Given the description of an element on the screen output the (x, y) to click on. 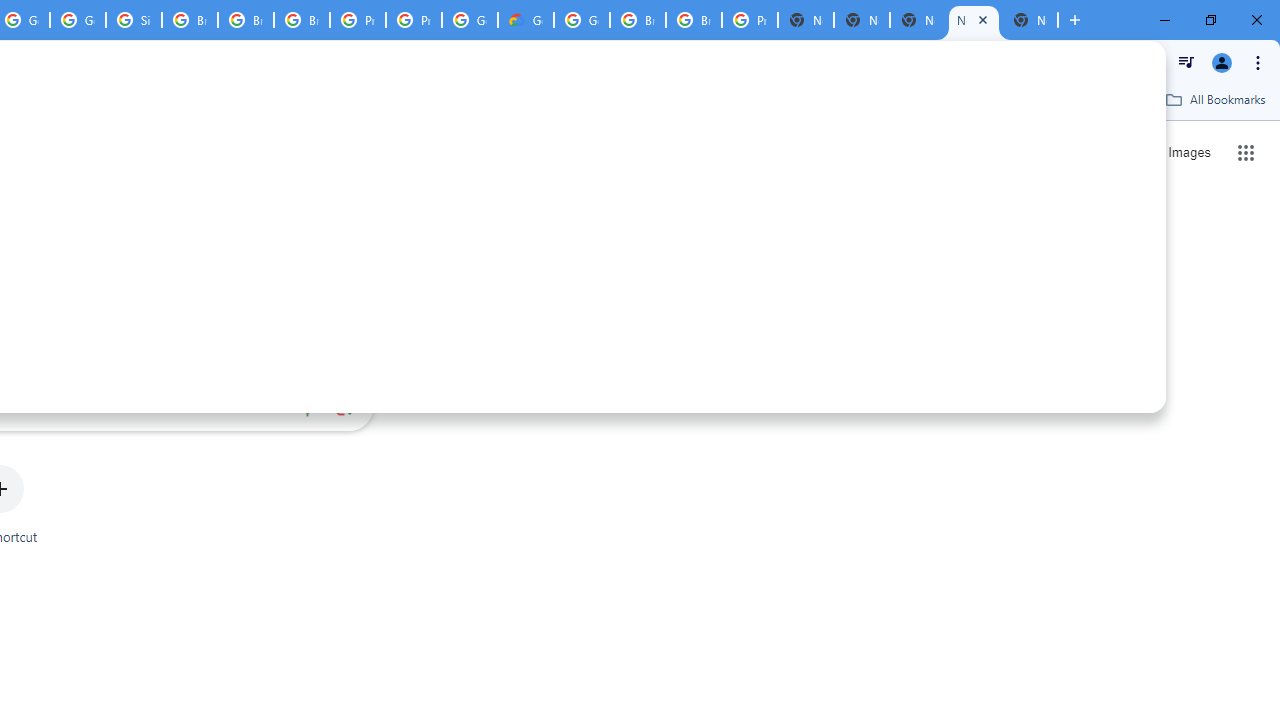
Browse Chrome as a guest - Computer - Google Chrome Help (245, 20)
New Tab (1030, 20)
Google Cloud Estimate Summary (525, 20)
Sign in - Google Accounts (134, 20)
New Tab (806, 20)
Google Cloud Platform (469, 20)
